Given the description of an element on the screen output the (x, y) to click on. 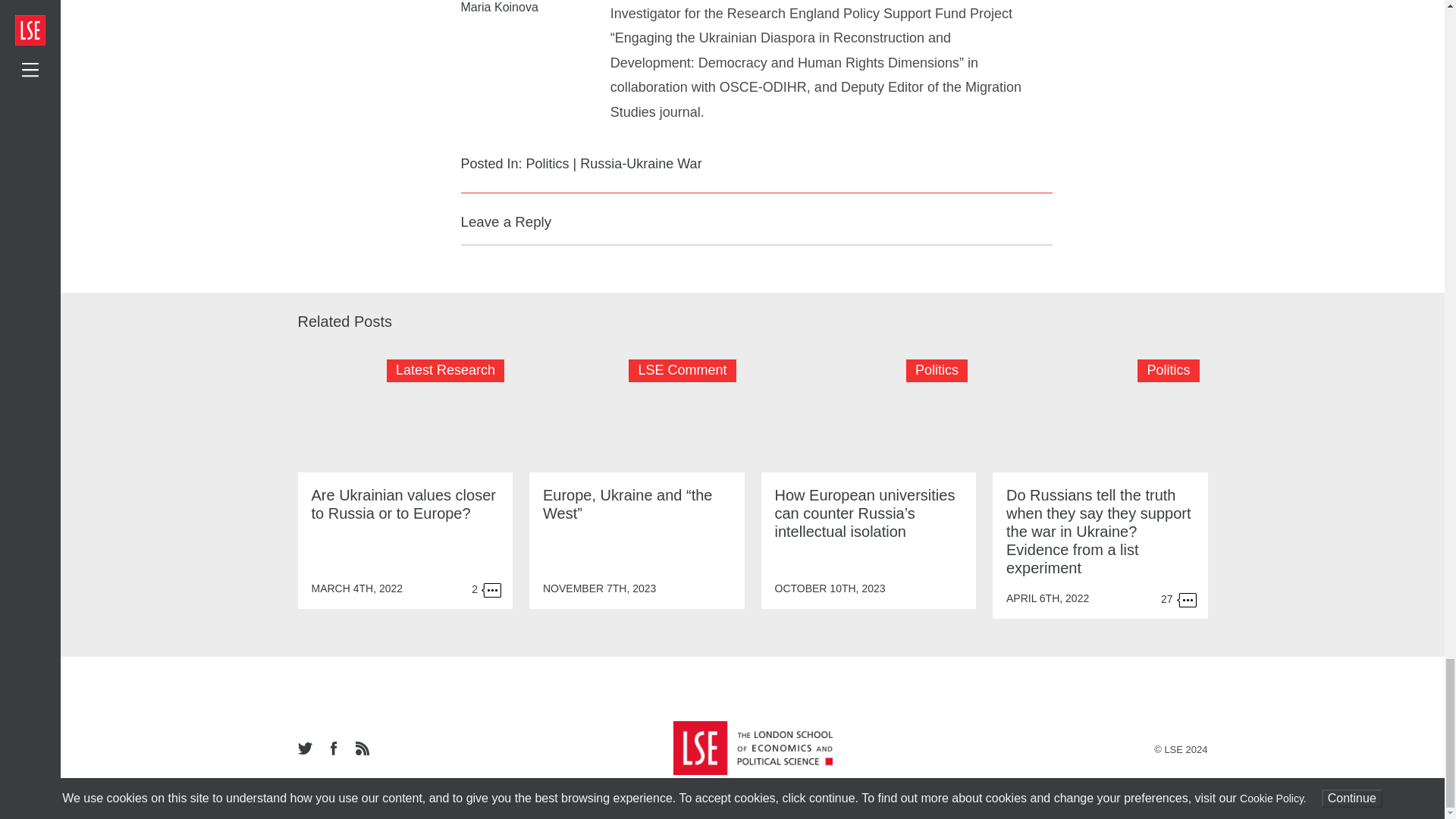
rss (361, 749)
